Given the description of an element on the screen output the (x, y) to click on. 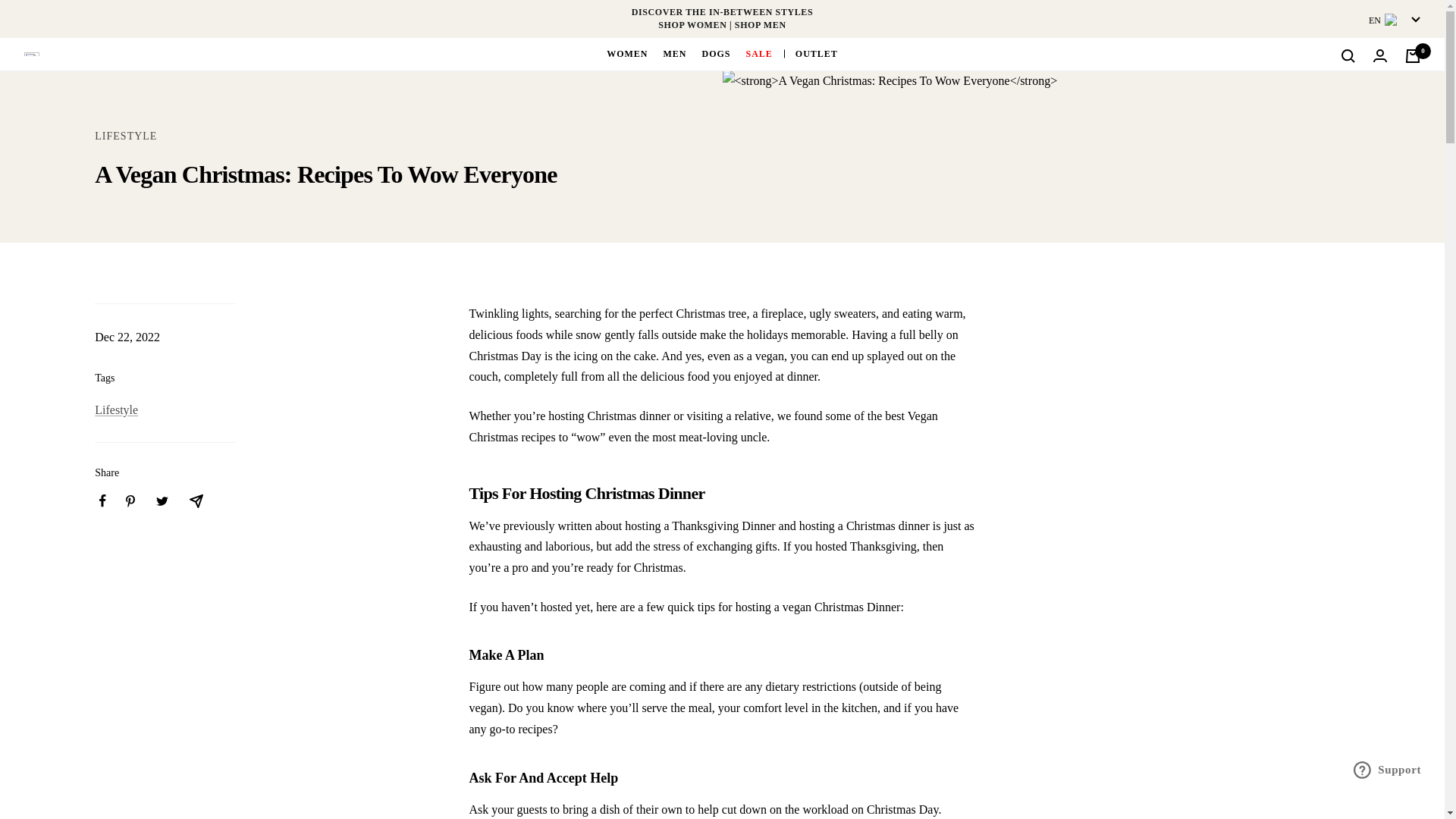
SHOP MEN (760, 24)
MEN (673, 53)
USD (1369, 121)
DOGS (715, 53)
SALE (759, 53)
CAD (1368, 96)
SHOP WOMEN (692, 24)
EN (1394, 20)
WOMEN (627, 53)
OUTLET (816, 53)
